Given the description of an element on the screen output the (x, y) to click on. 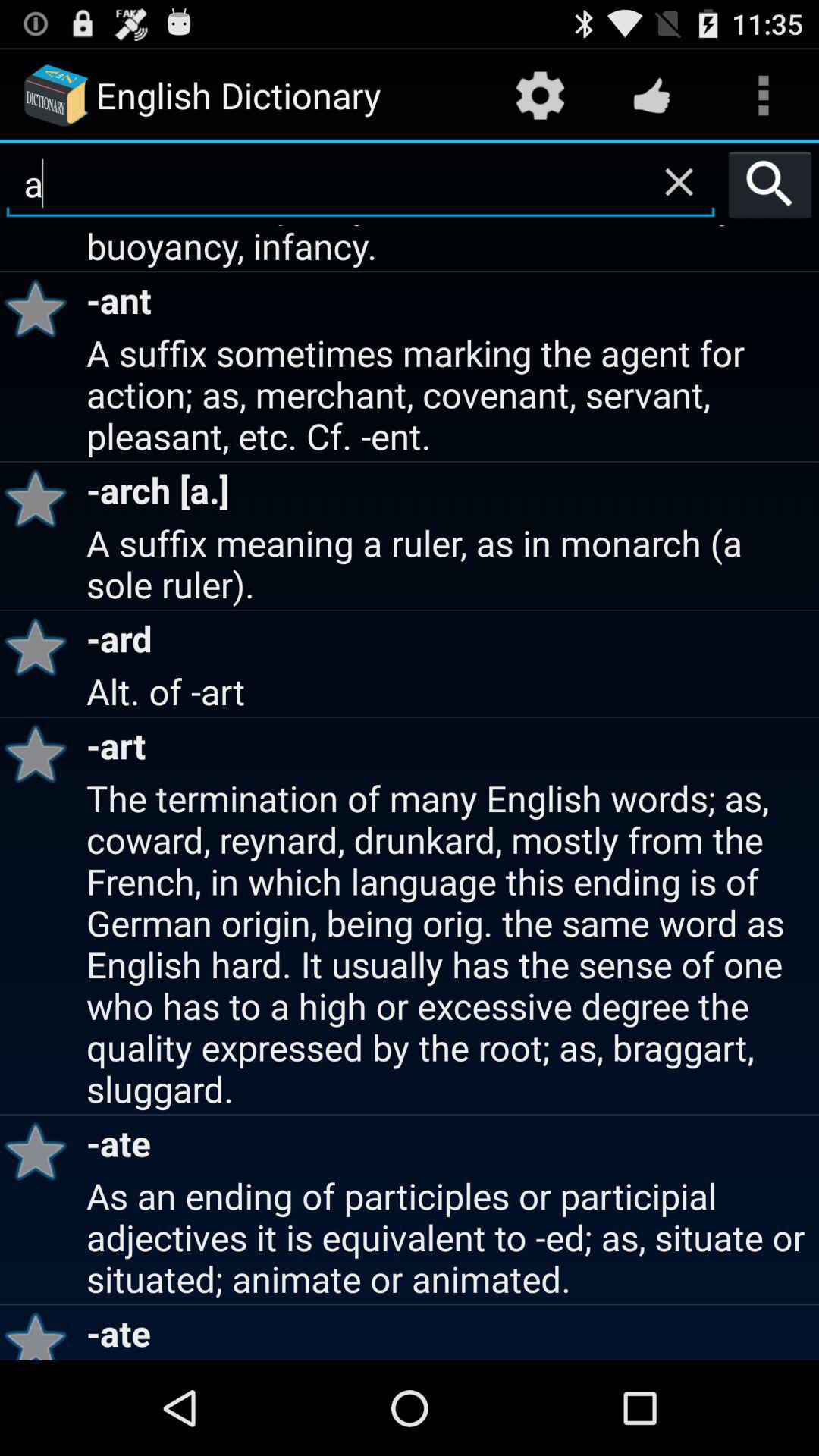
choose icon next to the the termination of app (41, 1150)
